Given the description of an element on the screen output the (x, y) to click on. 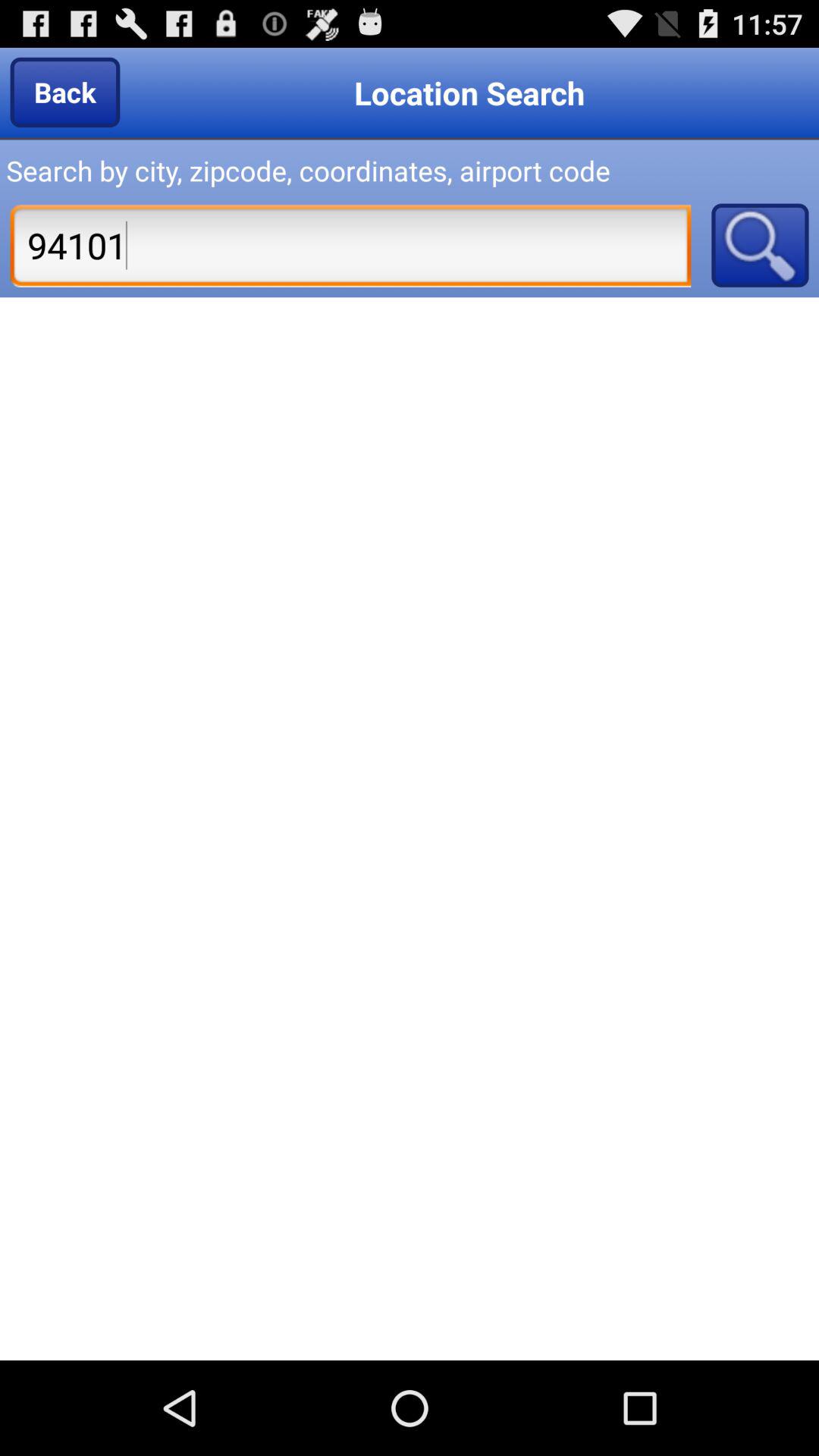
turn on the item at the center (409, 828)
